Given the description of an element on the screen output the (x, y) to click on. 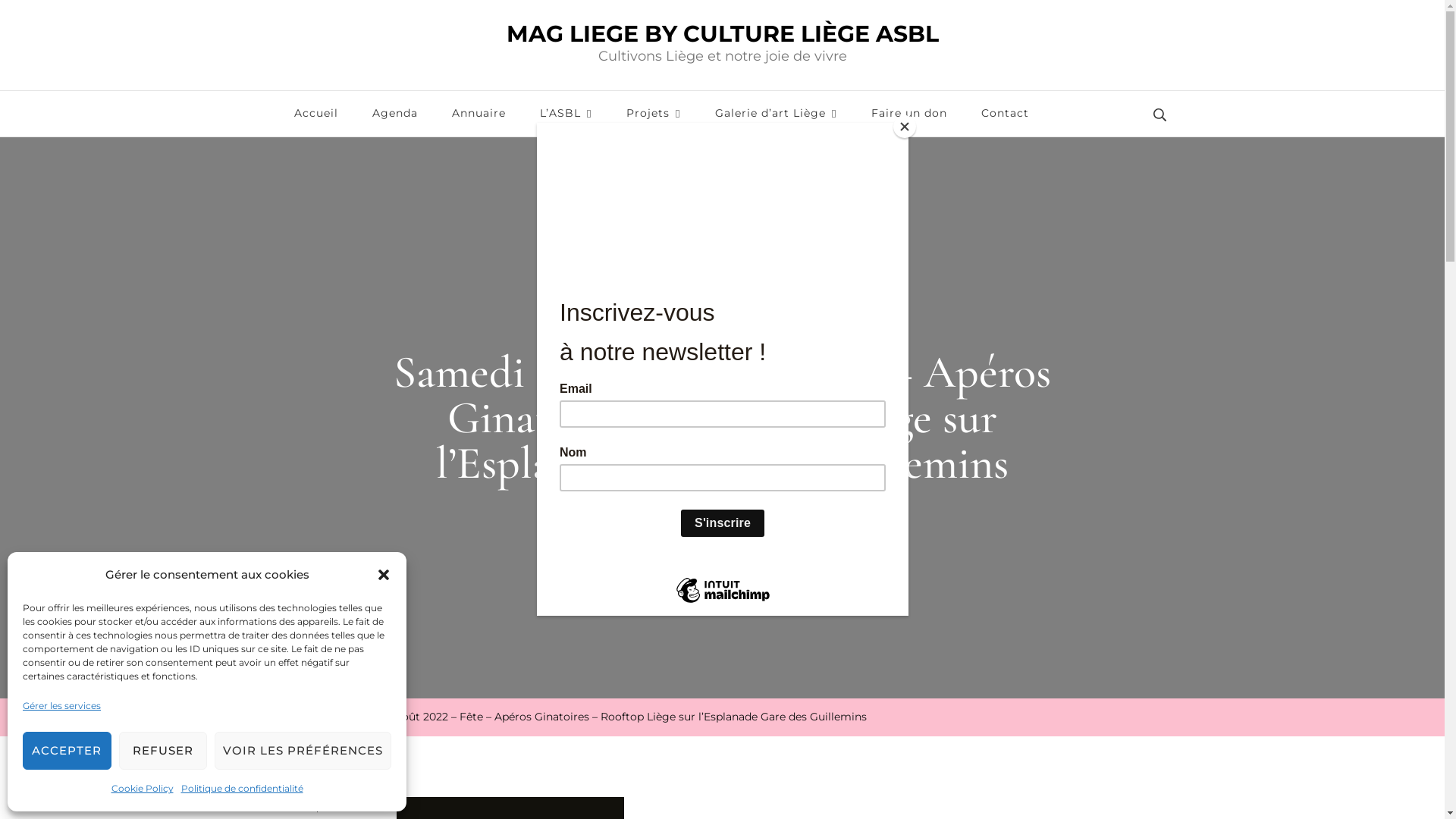
Projets Element type: text (653, 113)
REFUSER Element type: text (162, 750)
Contact Element type: text (1005, 113)
Agenda Element type: text (394, 113)
ACCEPTER Element type: text (66, 750)
Accueil Element type: text (316, 113)
Faire un don Element type: text (908, 113)
Cookie Policy Element type: text (141, 788)
Accueil Element type: text (298, 717)
Annuaire Element type: text (478, 113)
